Given the description of an element on the screen output the (x, y) to click on. 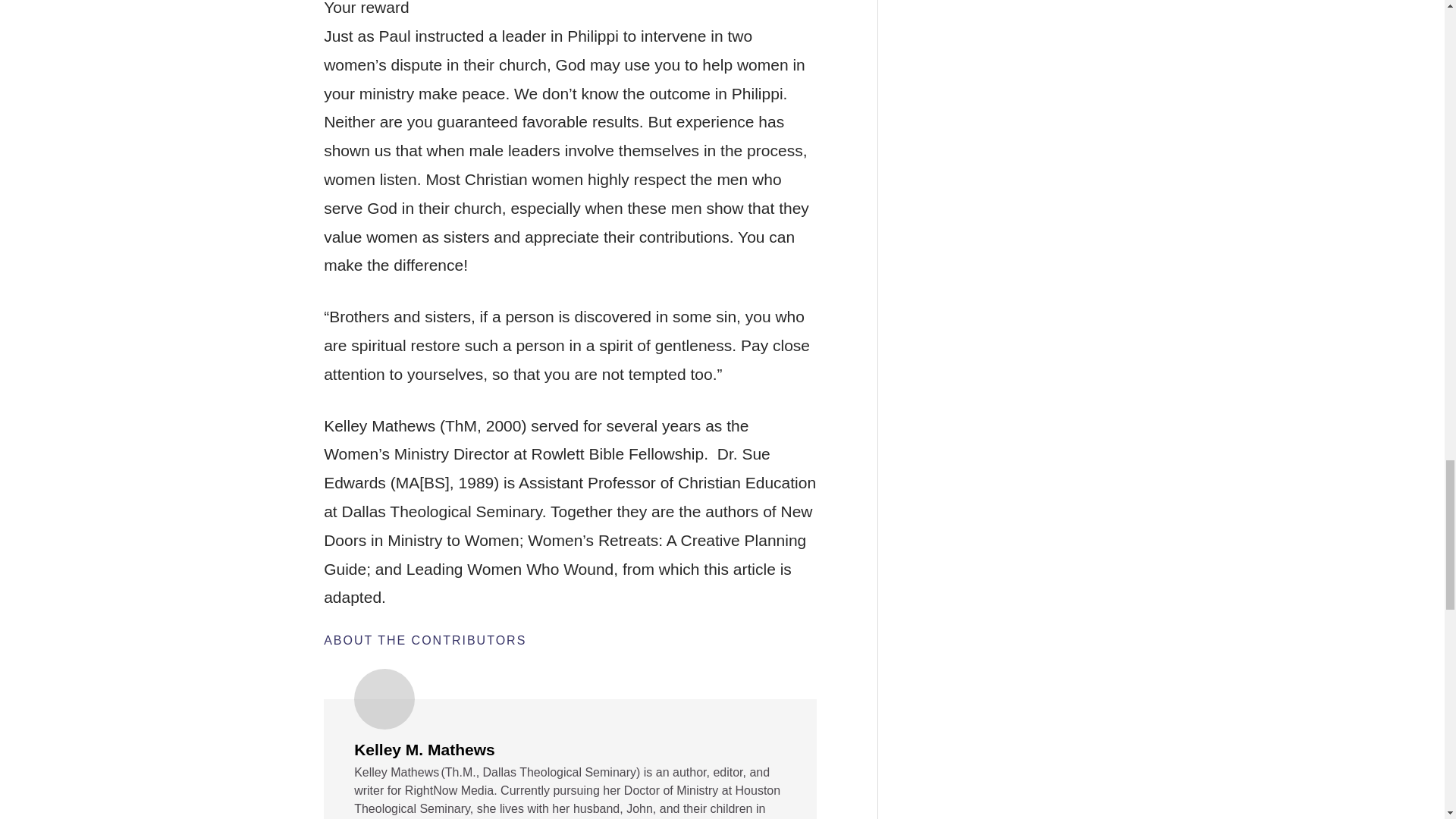
Kelley M. Mathews (424, 750)
